Given the description of an element on the screen output the (x, y) to click on. 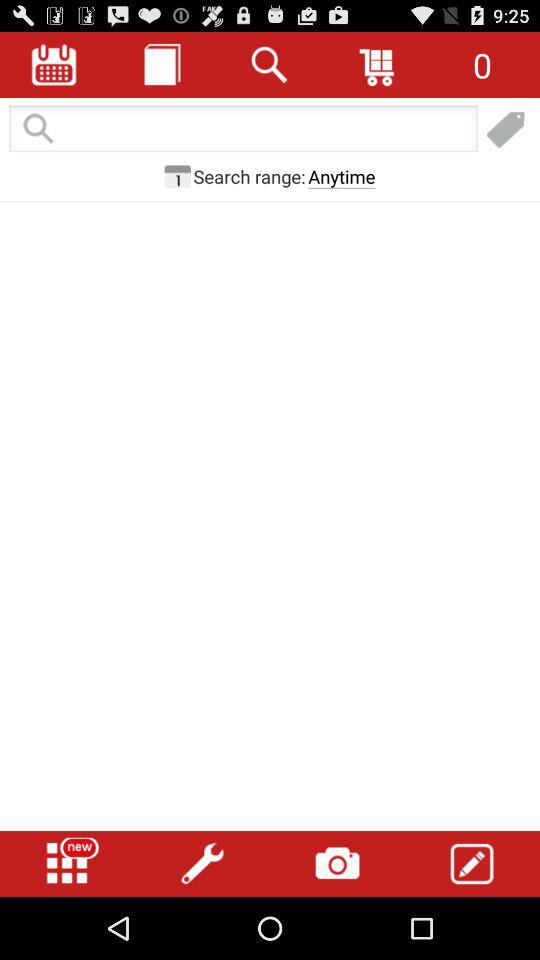
view bookmarks (506, 130)
